Given the description of an element on the screen output the (x, y) to click on. 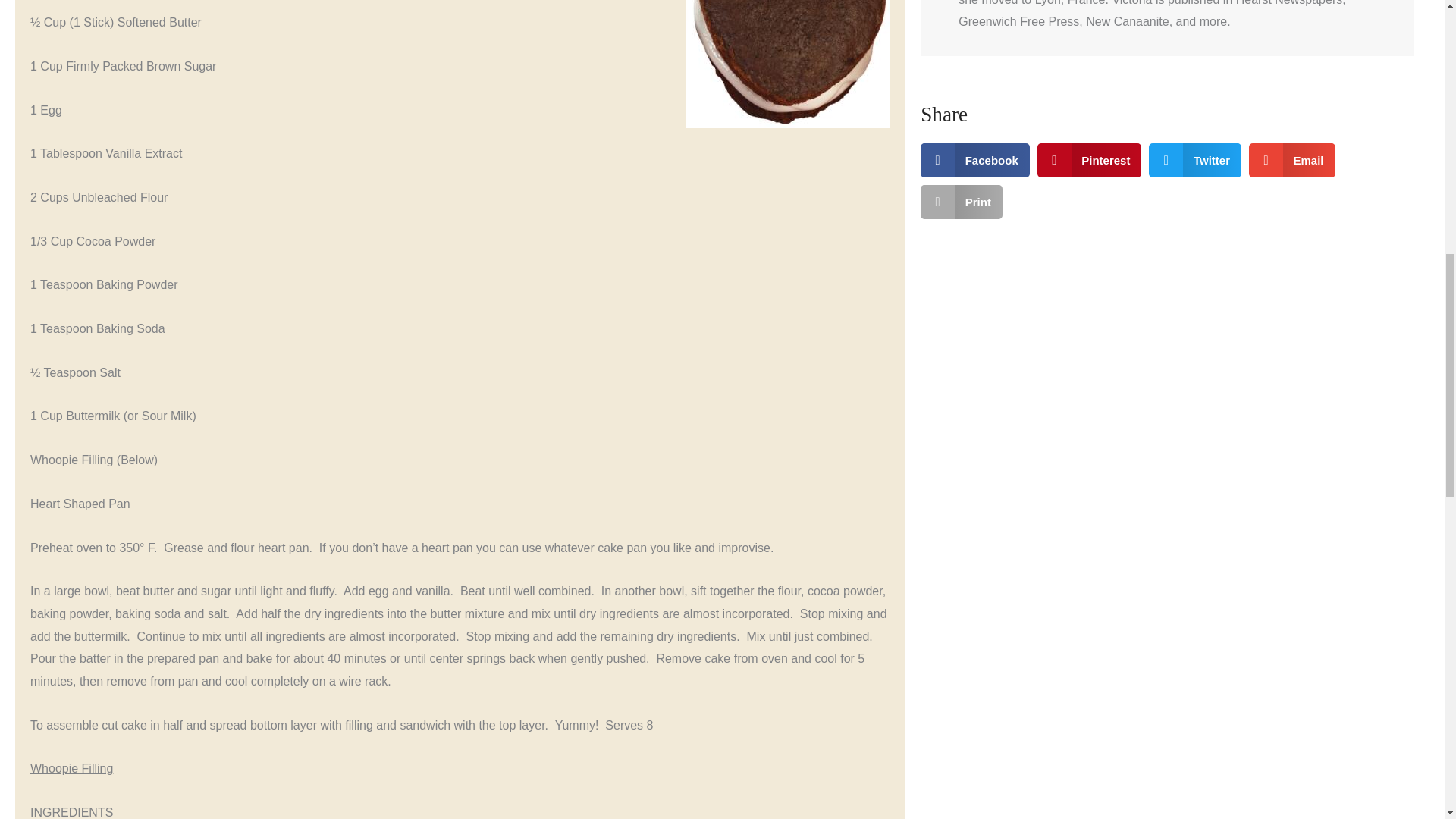
Email (1292, 160)
Pinterest (1088, 160)
Print (961, 202)
Facebook (974, 160)
Twitter (1194, 160)
